Given the description of an element on the screen output the (x, y) to click on. 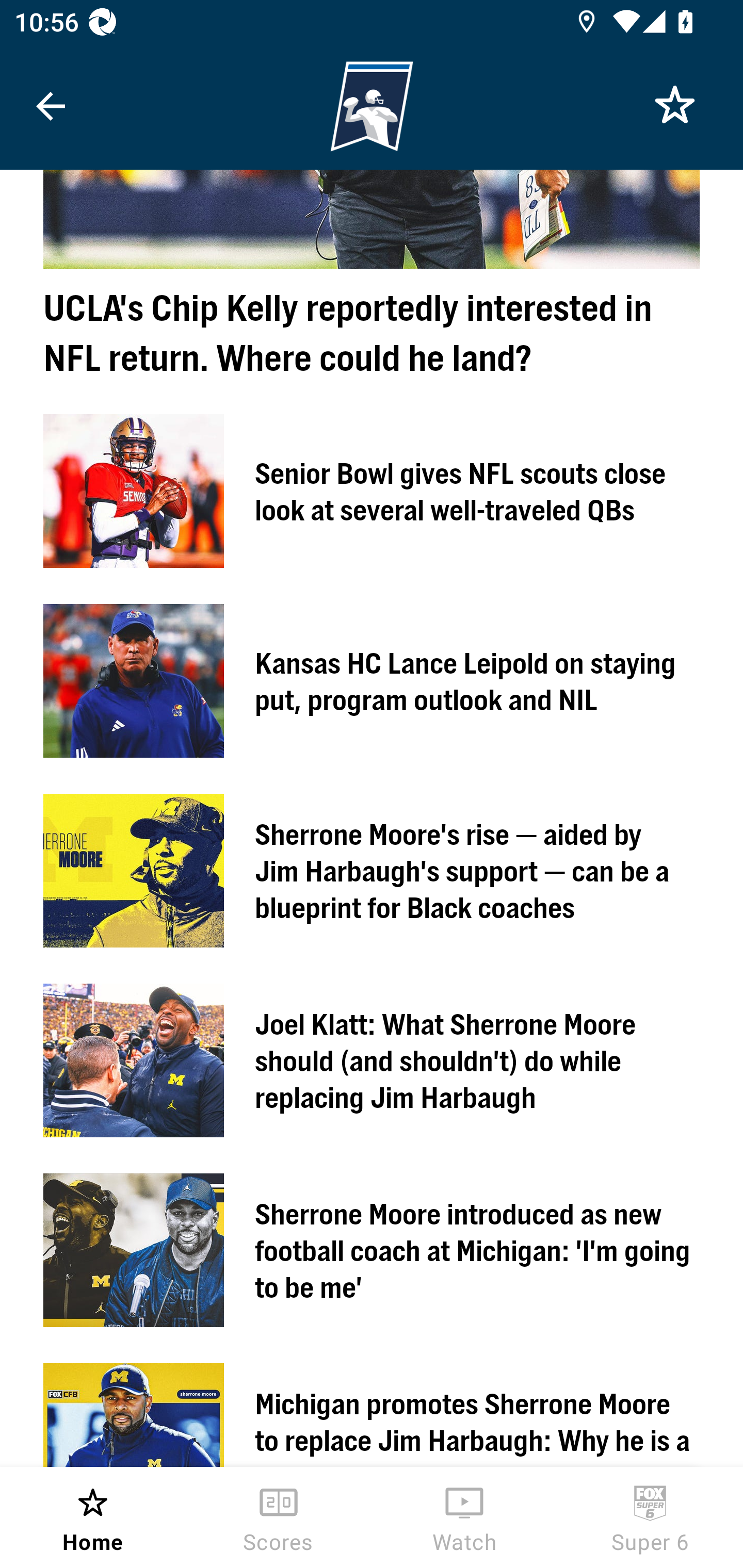
Navigate up (50, 106)
Scores (278, 1517)
Watch (464, 1517)
Super 6 (650, 1517)
